Given the description of an element on the screen output the (x, y) to click on. 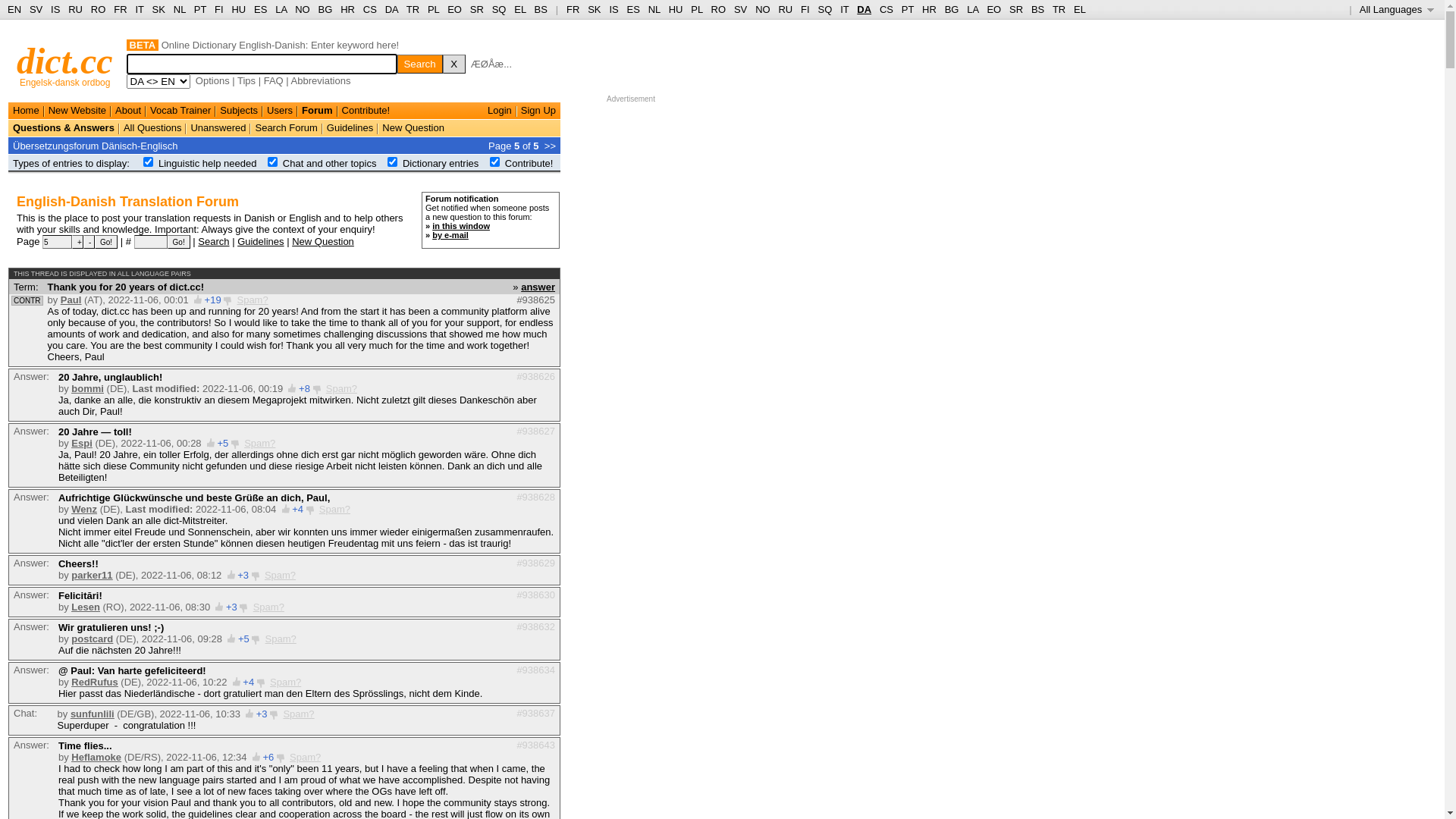
Spam? Element type: text (279, 574)
+4 Element type: text (248, 681)
ES Element type: text (633, 9)
Spam? Element type: text (304, 756)
+8 Element type: text (304, 388)
on Element type: text (392, 161)
on Element type: text (494, 161)
sunfunlili Element type: text (92, 713)
on Element type: text (272, 161)
Contribute! Element type: text (529, 163)
Spam? Element type: text (334, 508)
BG Element type: text (951, 9)
PT Element type: text (200, 9)
+4 Element type: text (297, 508)
TR Element type: text (412, 9)
answer Element type: text (537, 285)
DA Element type: text (863, 9)
RO Element type: text (98, 9)
SR Element type: text (1015, 9)
NL Element type: text (654, 9)
+5 Element type: text (222, 442)
#938626 Element type: text (535, 375)
Chat and other topics Element type: text (329, 163)
SK Element type: text (593, 9)
#938629 Element type: text (535, 561)
#938628 Element type: text (535, 496)
CS Element type: text (886, 9)
BS Element type: text (540, 9)
FI Element type: text (218, 9)
RO Element type: text (718, 9)
Abbreviations Element type: text (321, 80)
NO Element type: text (302, 9)
Vocab Trainer Element type: text (180, 110)
SK Element type: text (158, 9)
+3 Element type: text (231, 606)
IS Element type: text (54, 9)
Spam? Element type: text (341, 388)
NO Element type: text (762, 9)
New Website Element type: text (77, 110)
All Languages  Element type: text (1396, 9)
#938627 Element type: text (535, 430)
SQ Element type: text (824, 9)
CS Element type: text (369, 9)
#938634 Element type: text (535, 669)
parker11 Element type: text (91, 574)
#938625 Element type: text (535, 299)
HR Element type: text (347, 9)
BS Element type: text (1037, 9)
Search Element type: text (419, 63)
+5 Element type: text (243, 638)
Contribute! Element type: text (366, 110)
#938632 Element type: text (535, 625)
PT Element type: text (907, 9)
Spam? Element type: text (268, 606)
FI Element type: text (804, 9)
Espi Element type: text (81, 442)
Questions & Answers Element type: text (63, 127)
DA Element type: text (391, 9)
Spam? Element type: text (251, 299)
New Question Element type: text (322, 240)
TR Element type: text (1058, 9)
FR Element type: text (119, 9)
PL Element type: text (433, 9)
postcard Element type: text (91, 638)
Login Element type: text (499, 110)
English-Danish Translation Forum Element type: text (127, 201)
Linguistic help needed Element type: text (207, 163)
IT Element type: text (844, 9)
bommi Element type: text (87, 388)
FR Element type: text (572, 9)
HU Element type: text (238, 9)
CONTR Element type: text (26, 300)
HR Element type: text (929, 9)
Heflamoke Element type: text (96, 756)
SR Element type: text (476, 9)
EN Element type: text (14, 9)
Go! Element type: text (178, 241)
EL Element type: text (519, 9)
Unanswered Element type: text (217, 127)
ES Element type: text (260, 9)
Guidelines Element type: text (349, 127)
Spam? Element type: text (259, 442)
Paul Element type: text (70, 299)
LA Element type: text (972, 9)
dict.cc Element type: text (64, 60)
SQ Element type: text (499, 9)
NL Element type: text (179, 9)
Search Forum Element type: text (285, 127)
Options Element type: text (212, 80)
+19 Element type: text (212, 299)
on Element type: text (148, 161)
X Element type: text (453, 63)
Spam? Element type: text (280, 638)
EL Element type: text (1079, 9)
SV Element type: text (35, 9)
#938643 Element type: text (535, 743)
Sign Up Element type: text (537, 110)
+6 Element type: text (267, 756)
All Questions Element type: text (152, 127)
#938630 Element type: text (535, 593)
Forum Element type: text (316, 110)
RU Element type: text (785, 9)
LA Element type: text (280, 9)
Spam? Element type: text (285, 681)
Dictionary entries Element type: text (440, 163)
+3 Element type: text (242, 574)
PL Element type: text (696, 9)
BG Element type: text (325, 9)
SV Element type: text (740, 9)
Wenz Element type: text (84, 508)
RU Element type: text (75, 9)
Subjects Element type: text (238, 110)
Go! Element type: text (105, 241)
Tips Element type: text (246, 80)
Guidelines Element type: text (260, 240)
Home Element type: text (25, 110)
IS Element type: text (613, 9)
IT Element type: text (138, 9)
Lesen Element type: text (85, 606)
HU Element type: text (675, 9)
EO Element type: text (454, 9)
>> Element type: text (549, 144)
EO Element type: text (993, 9)
New Question Element type: text (413, 127)
About Element type: text (128, 110)
Search Element type: text (213, 240)
Spam? Element type: text (297, 713)
RedRufus Element type: text (94, 681)
FAQ Element type: text (273, 80)
+3 Element type: text (261, 713)
Users Element type: text (279, 110)
#938637 Element type: text (535, 712)
